Given the description of an element on the screen output the (x, y) to click on. 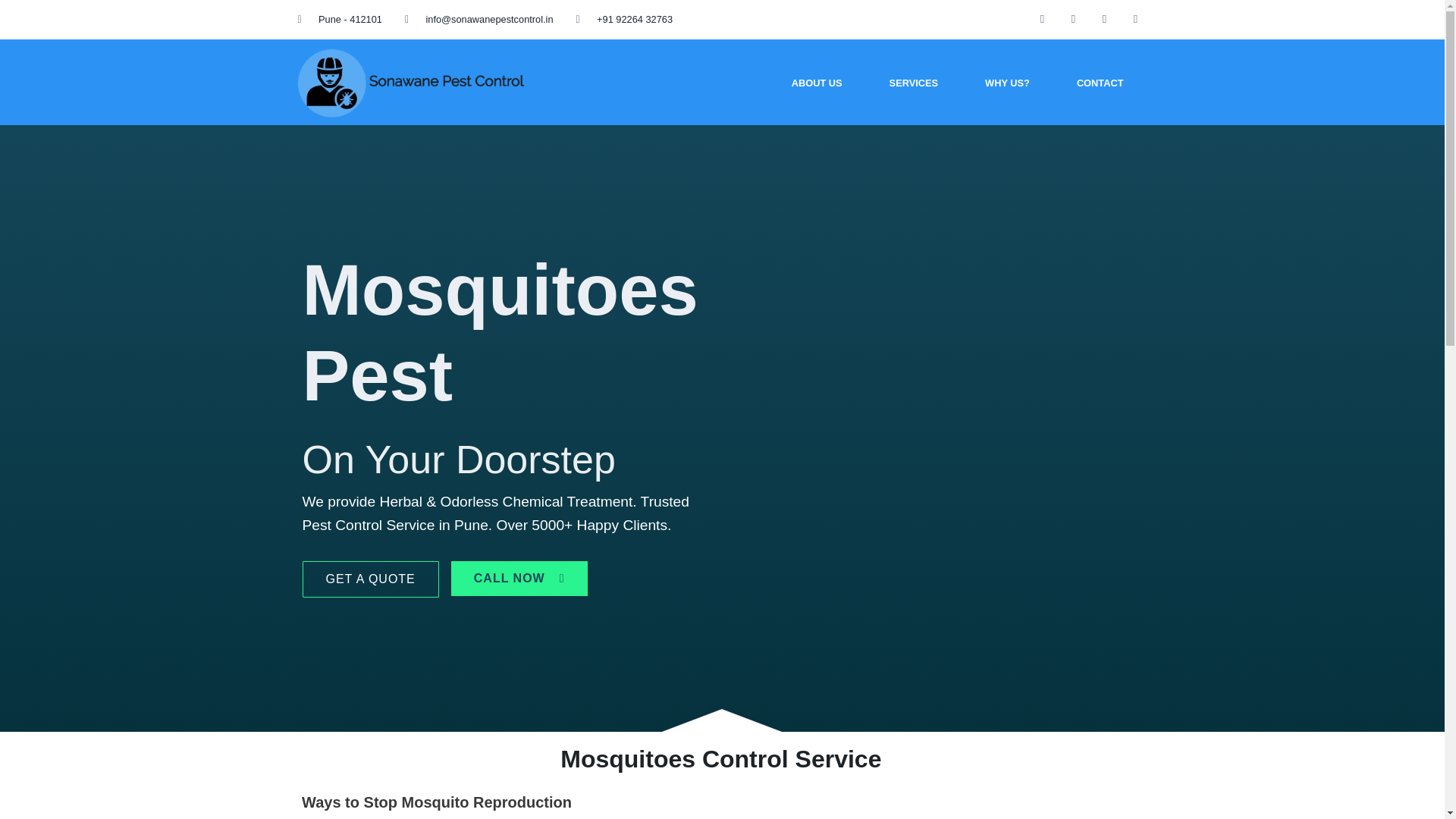
ABOUT US (817, 83)
CONTACT (1099, 83)
CALL NOW (519, 578)
SERVICES (913, 83)
Pune - 412101 (339, 19)
WHY US? (1006, 83)
GET A QUOTE (369, 579)
